Given the description of an element on the screen output the (x, y) to click on. 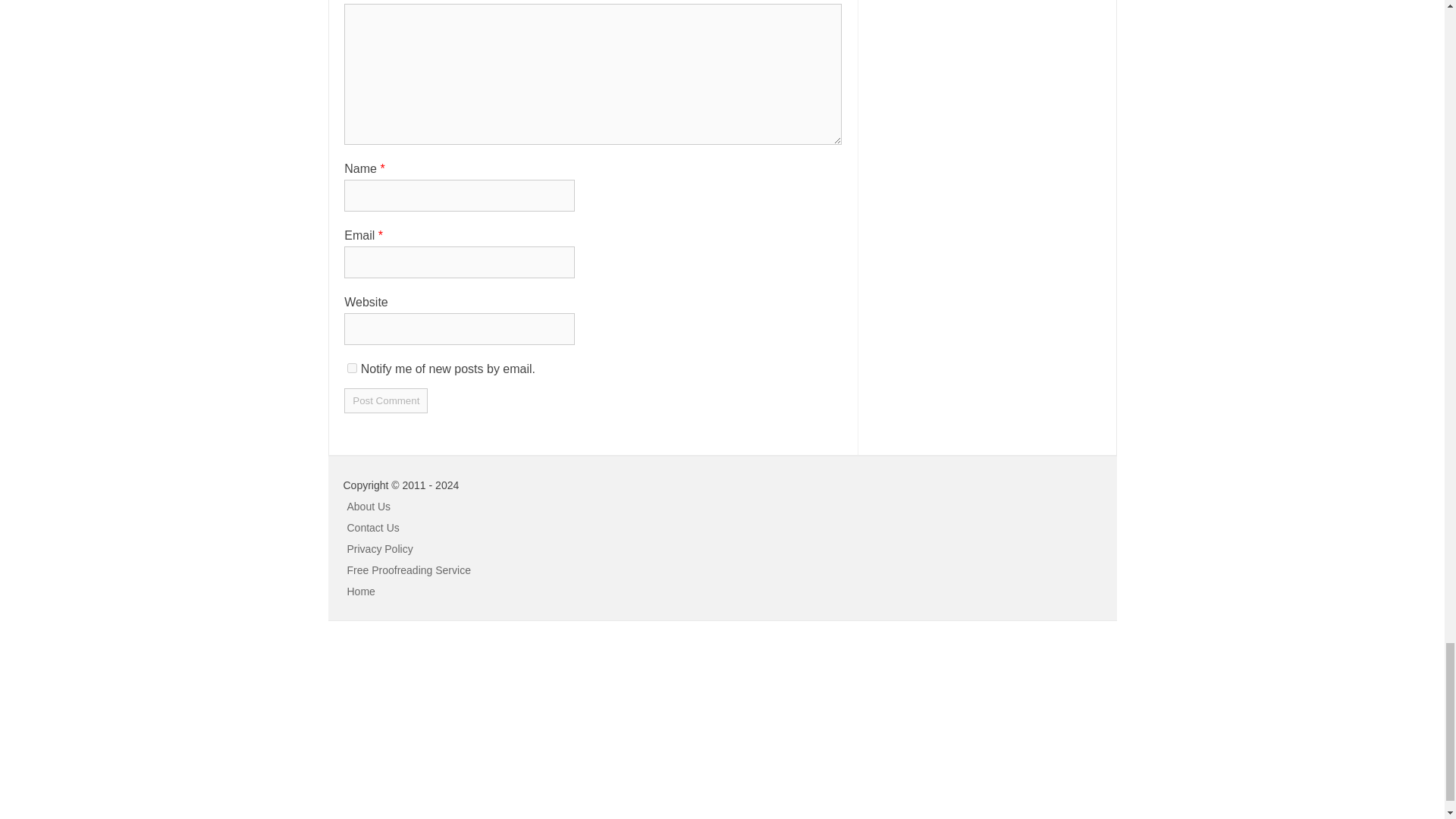
subscribe (351, 368)
Free Proofreading Service (408, 570)
Privacy Policy (380, 548)
About Us (369, 506)
Post Comment (385, 400)
Contact Us (372, 527)
Home (361, 591)
Post Comment (385, 400)
